Given the description of an element on the screen output the (x, y) to click on. 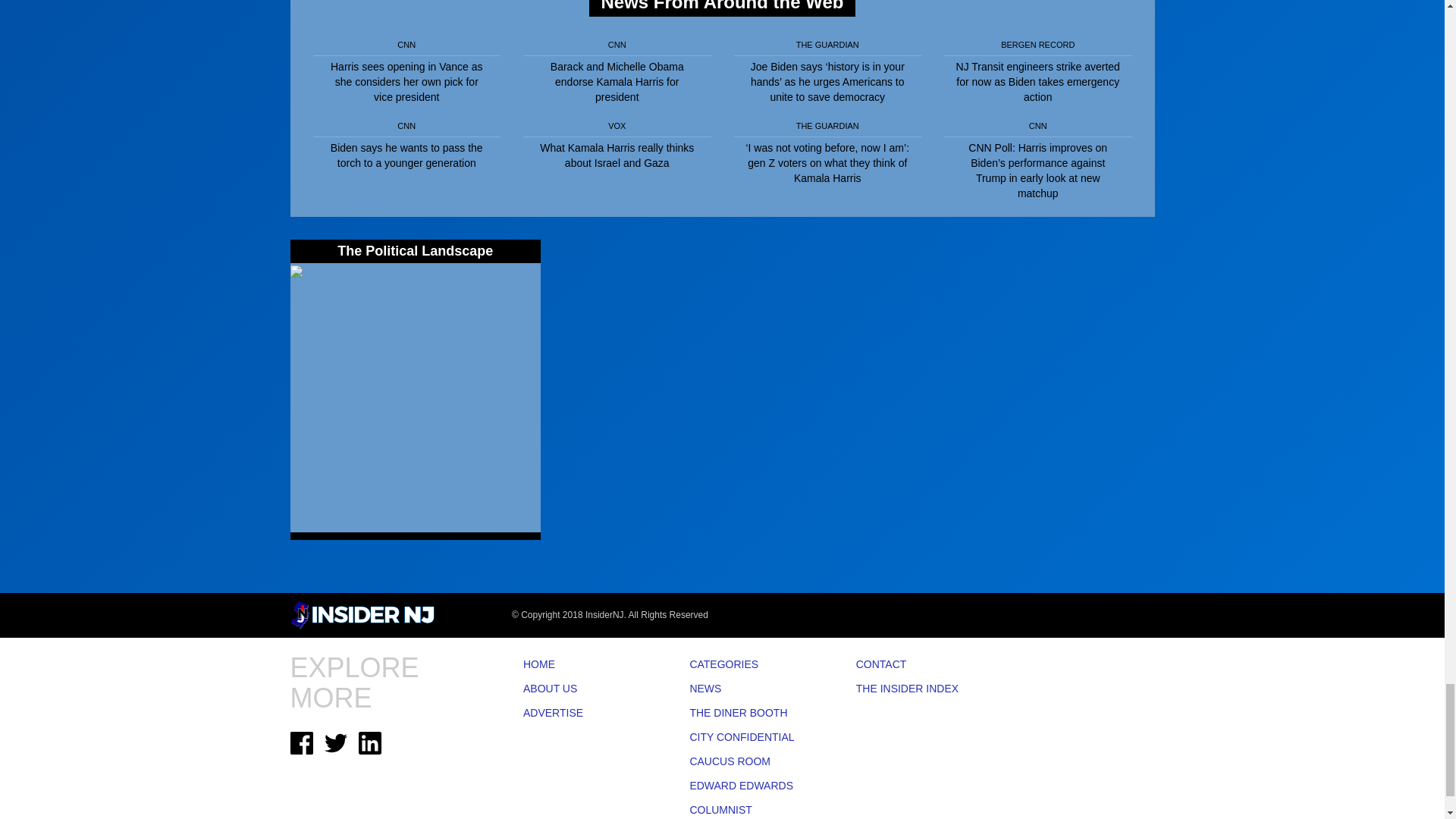
Advertise (583, 713)
Home (583, 664)
About Us (583, 689)
News (749, 689)
Categories (749, 664)
